Given the description of an element on the screen output the (x, y) to click on. 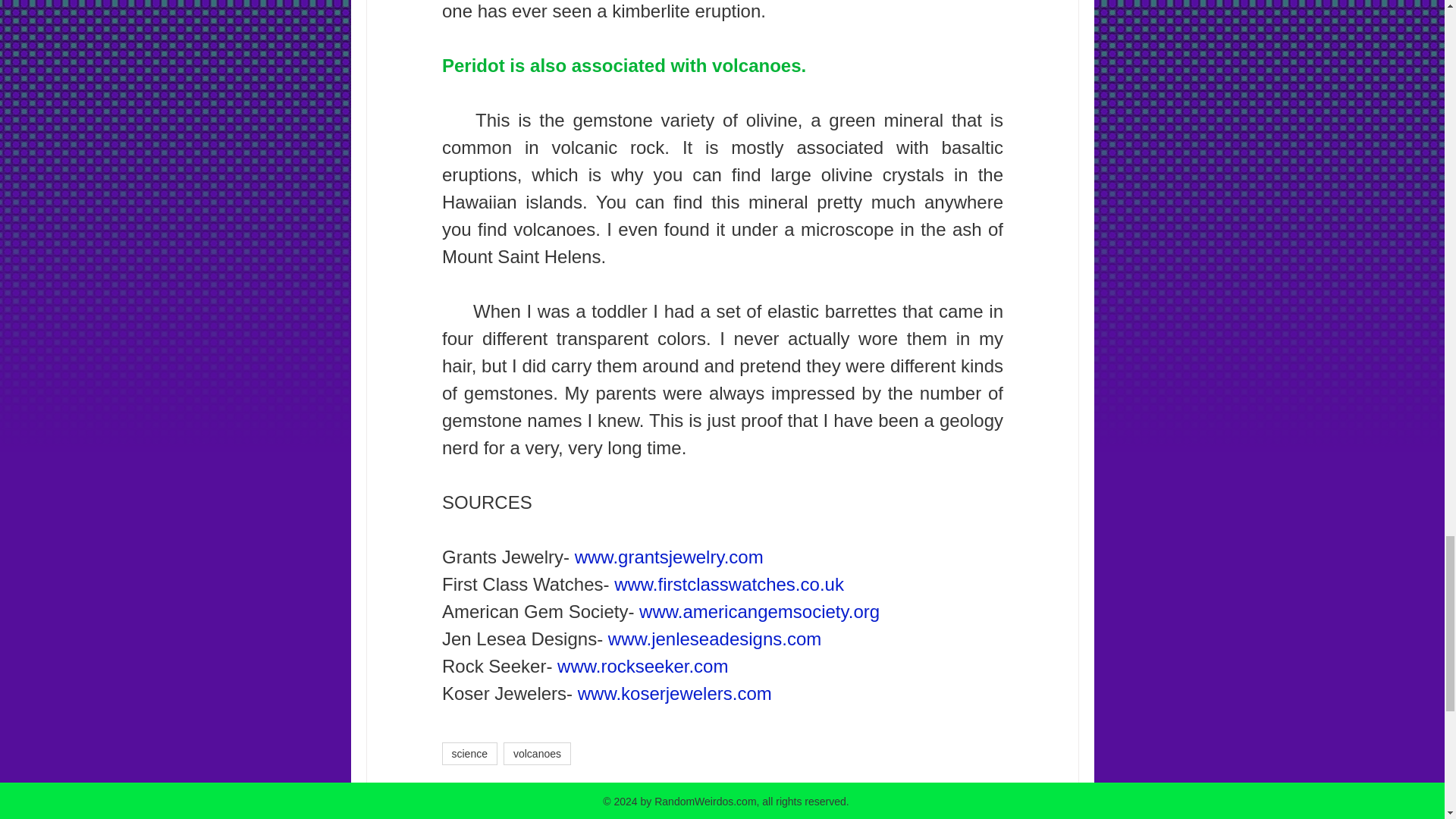
www.koserjewelers.com (673, 693)
www.grantsjewelry.com (667, 557)
www.rockseeker.com (642, 666)
www.jenleseadesigns.com (714, 638)
volcanoes (536, 753)
www.firstclasswatches.co.uk (729, 584)
www.americangemsociety.org (759, 611)
science (468, 753)
